Given the description of an element on the screen output the (x, y) to click on. 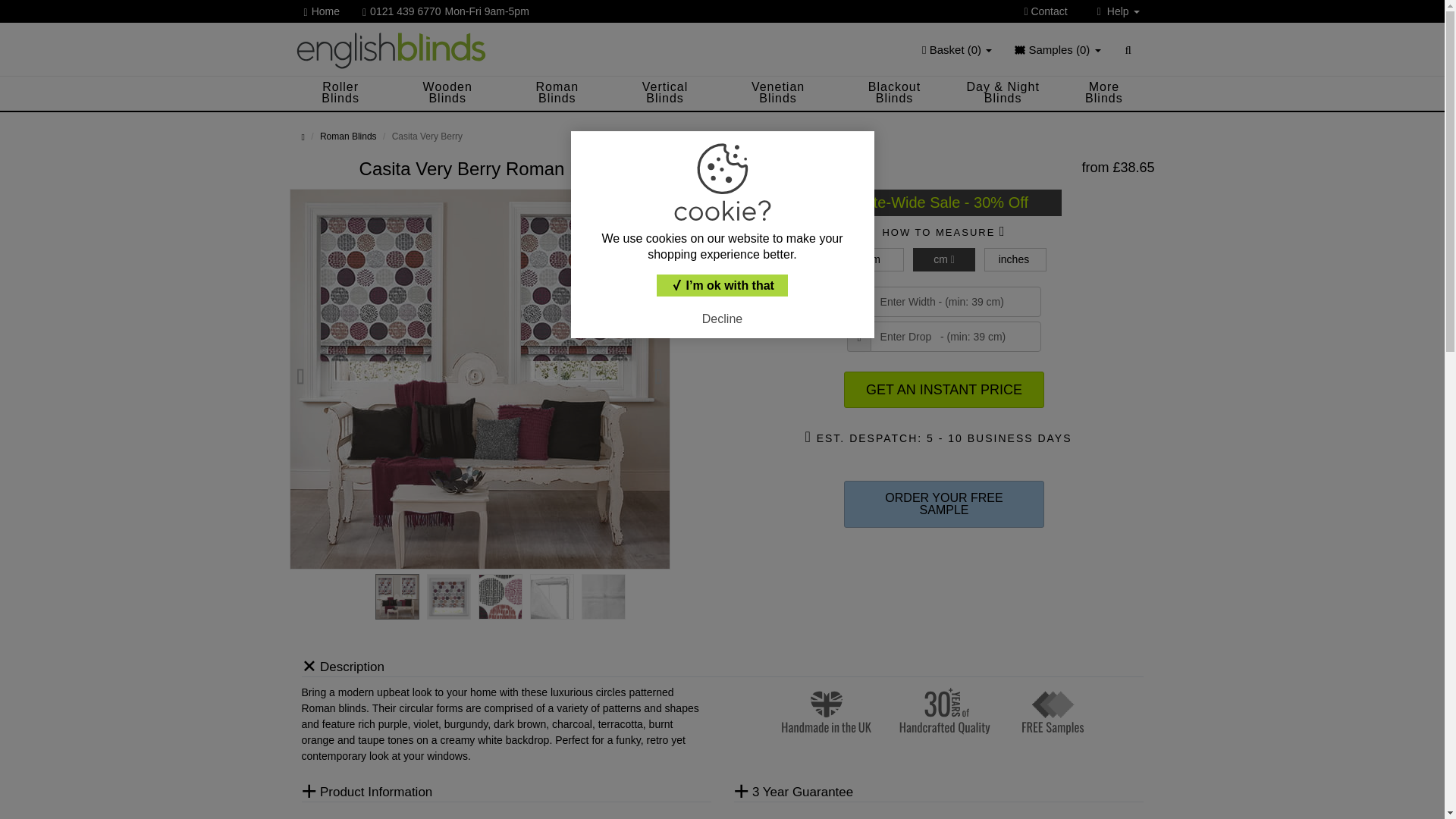
Roller Blinds (453, 11)
Order Tracking (339, 93)
Contact (1079, 36)
Home (1050, 11)
English Blinds (327, 11)
Help (390, 49)
3 Year Guarantee (1118, 11)
